Given the description of an element on the screen output the (x, y) to click on. 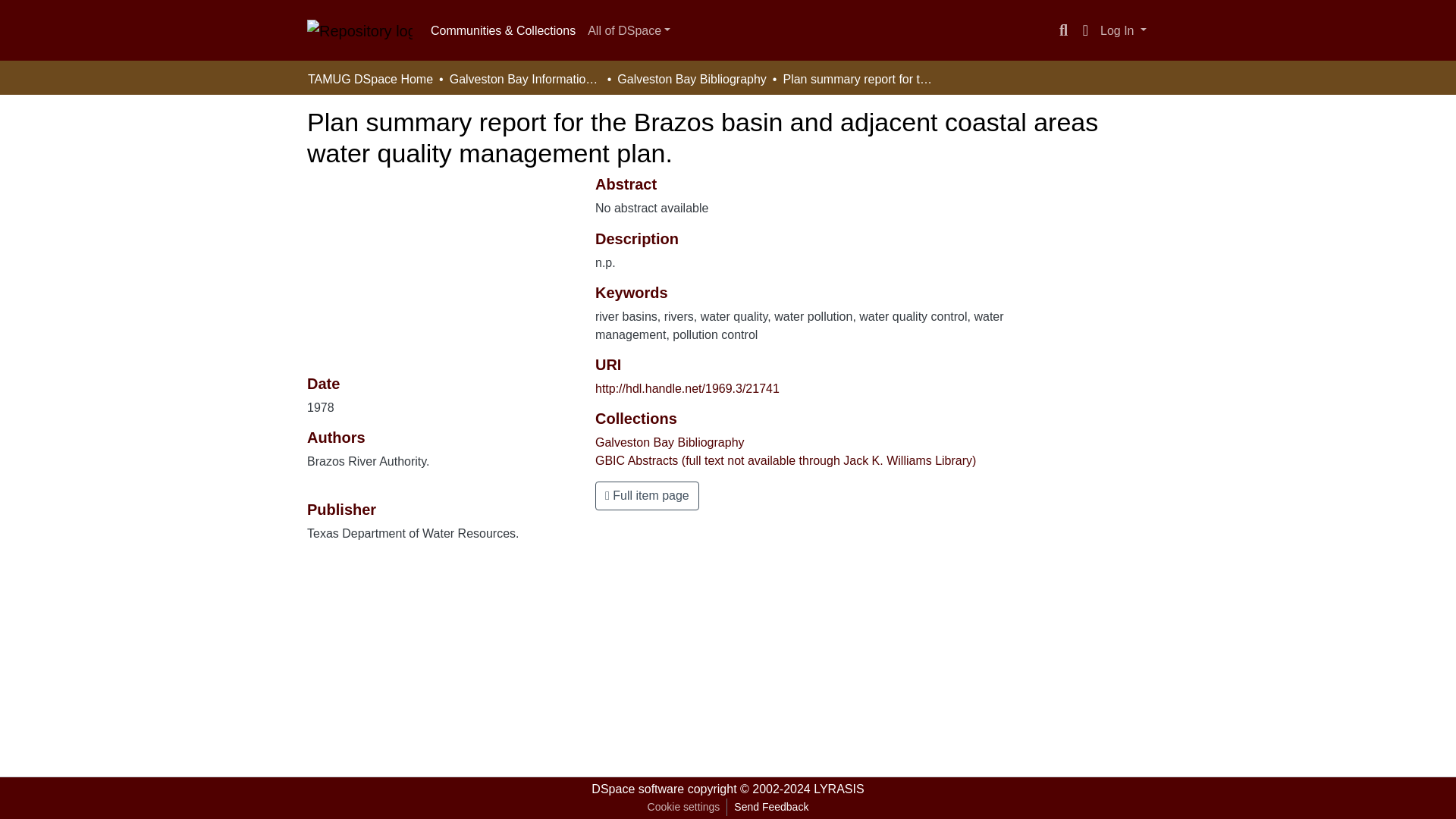
Language switch (1084, 30)
Galveston Bay Information Collection (525, 79)
Full item page (646, 495)
Galveston Bay Bibliography (669, 441)
Cookie settings (683, 806)
TAMUG DSpace Home (369, 79)
Galveston Bay Bibliography (692, 79)
Send Feedback (770, 806)
All of DSpace (628, 30)
DSpace software (637, 788)
Search (1063, 30)
LYRASIS (838, 788)
Log In (1122, 30)
